Given the description of an element on the screen output the (x, y) to click on. 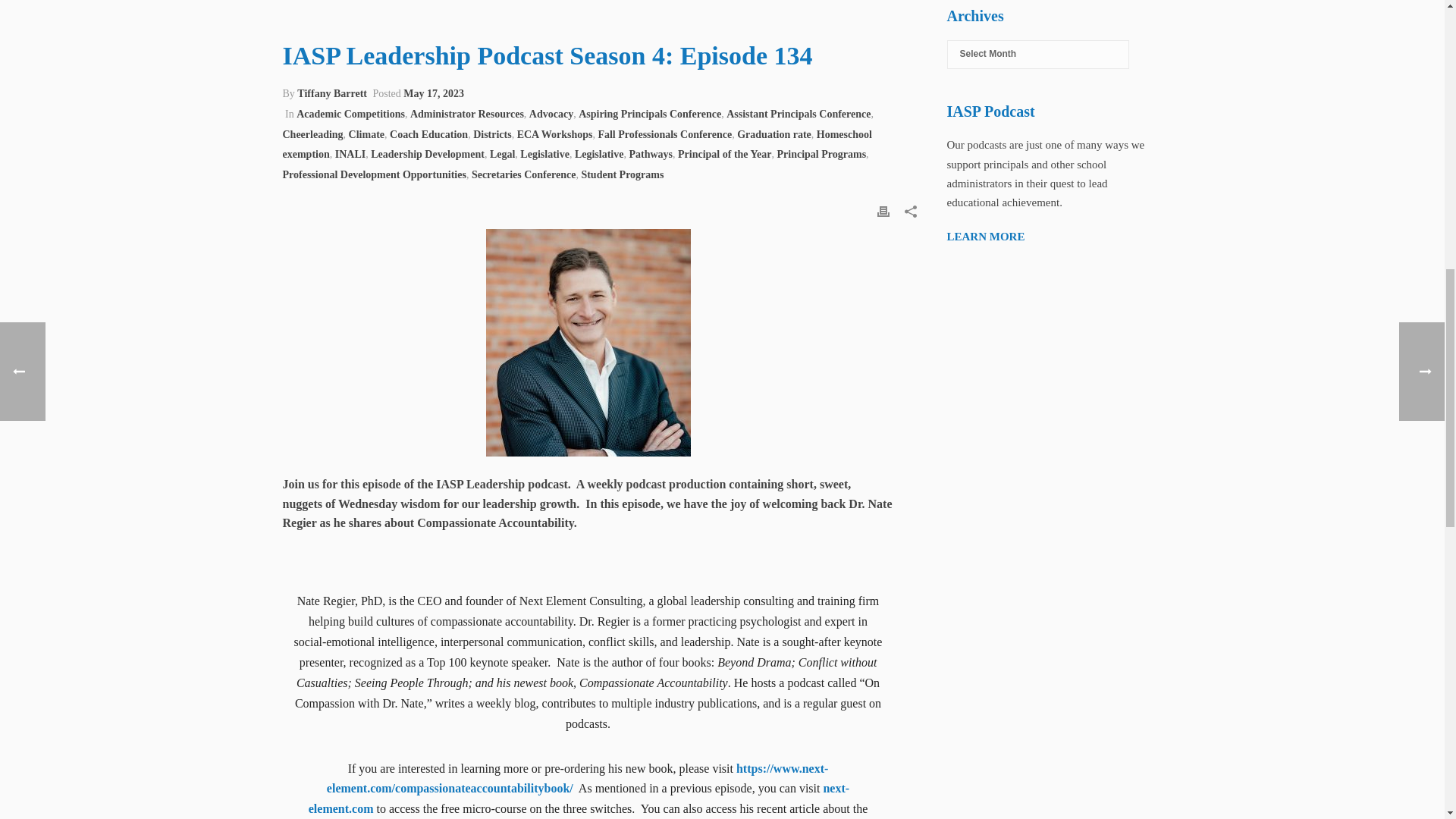
Posts by Tiffany Barrett (331, 93)
IASP Leadership Podcast Season 4: Episode 134 (598, 12)
